Given the description of an element on the screen output the (x, y) to click on. 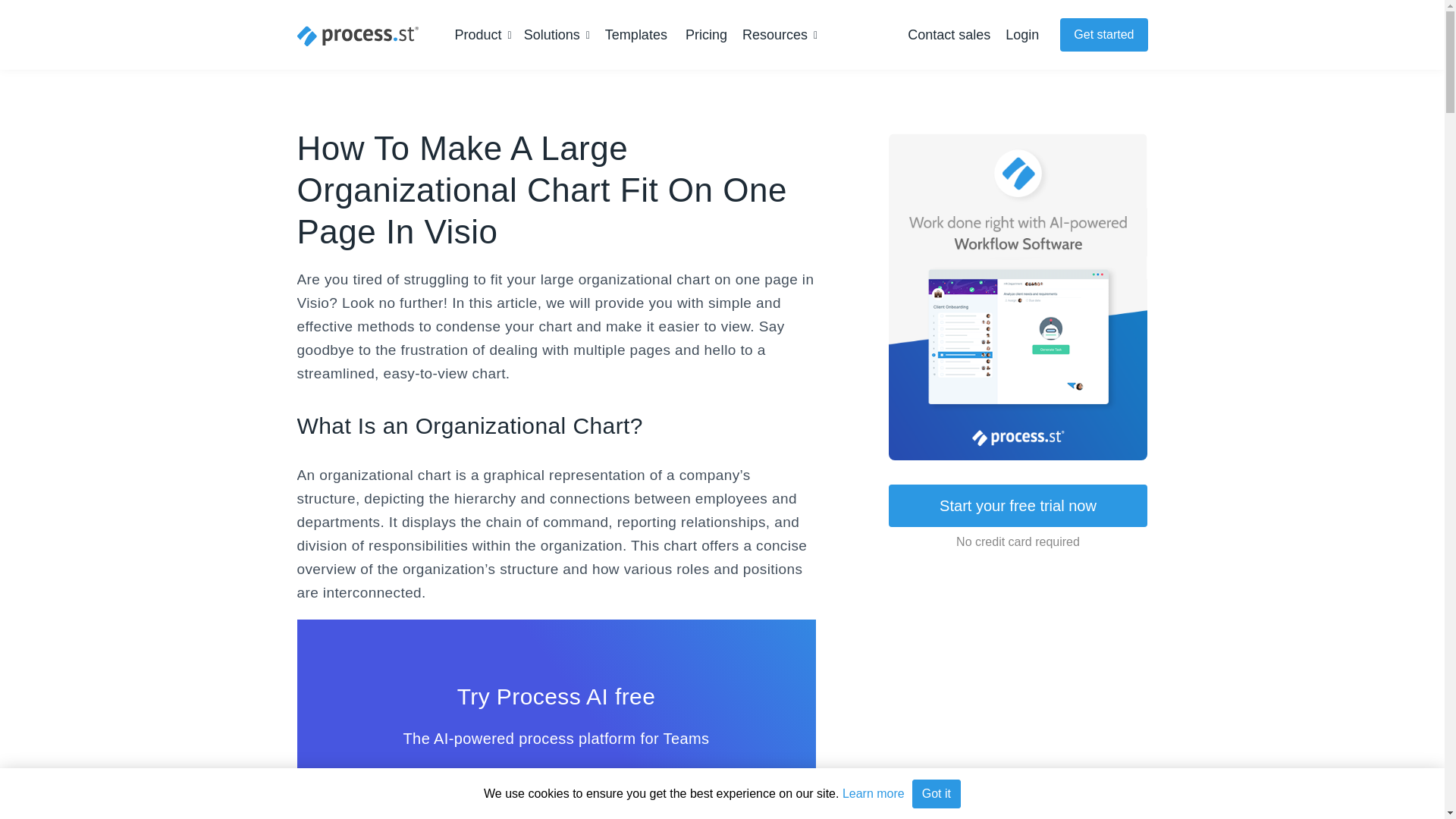
Resources (779, 34)
Contact sales (948, 34)
Product (483, 34)
Get started (1103, 34)
Templates (635, 34)
Solutions (556, 34)
Login (1022, 34)
Pricing (705, 34)
Process Street (358, 35)
